Given the description of an element on the screen output the (x, y) to click on. 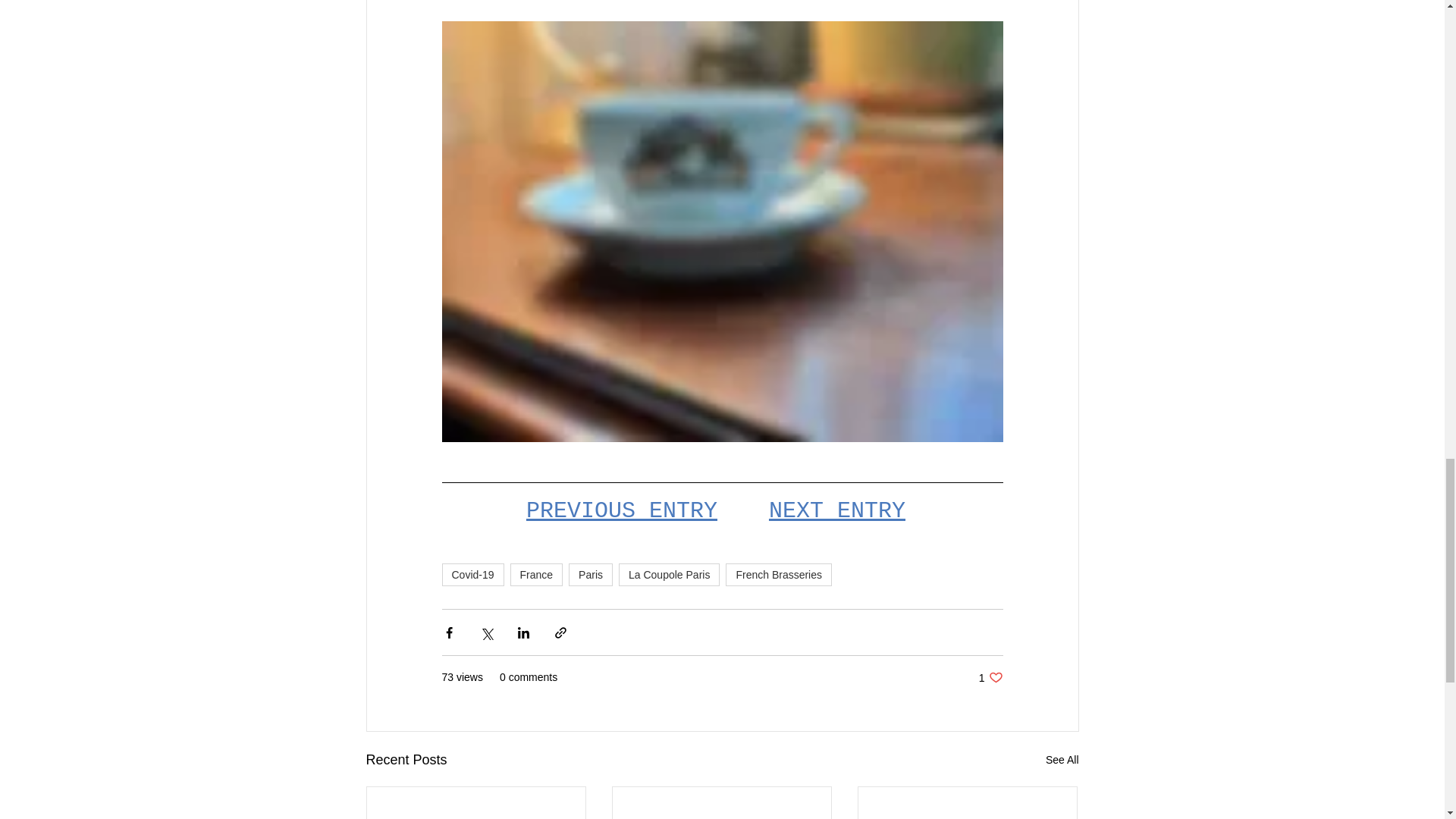
Covid-19 (472, 574)
French Brasseries (778, 574)
La Coupole Paris (668, 574)
PREVIOUS ENTRY (620, 510)
France (537, 574)
Paris (590, 574)
See All (1061, 760)
NEXT ENTRY (990, 677)
